Given the description of an element on the screen output the (x, y) to click on. 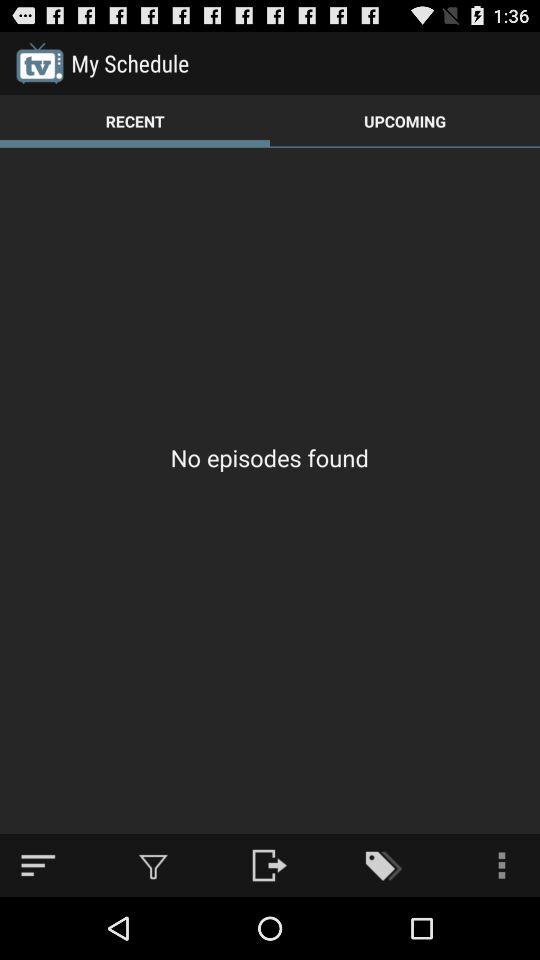
turn off the item next to the recent (405, 120)
